Given the description of an element on the screen output the (x, y) to click on. 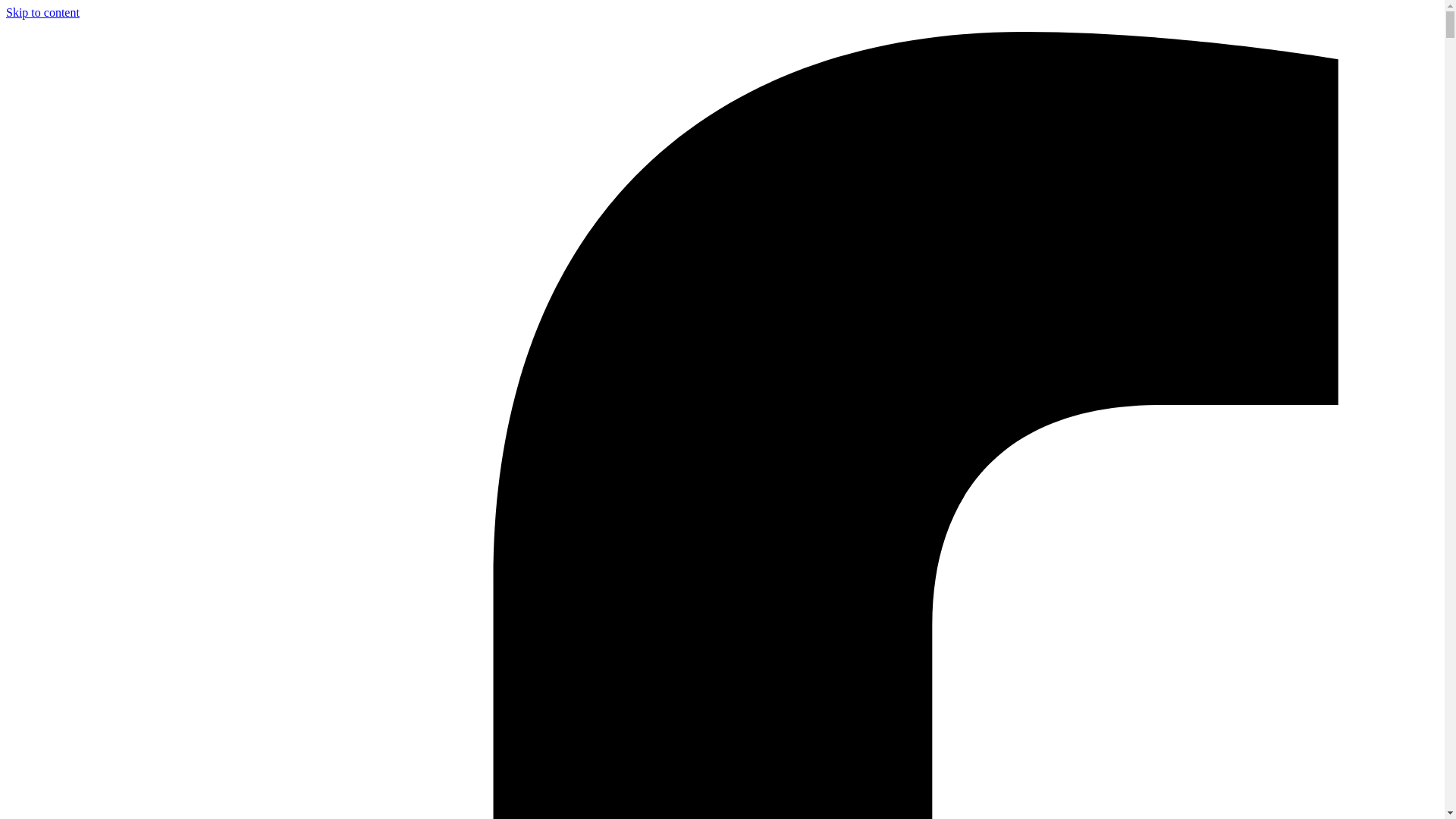
Skip to content (42, 11)
